Given the description of an element on the screen output the (x, y) to click on. 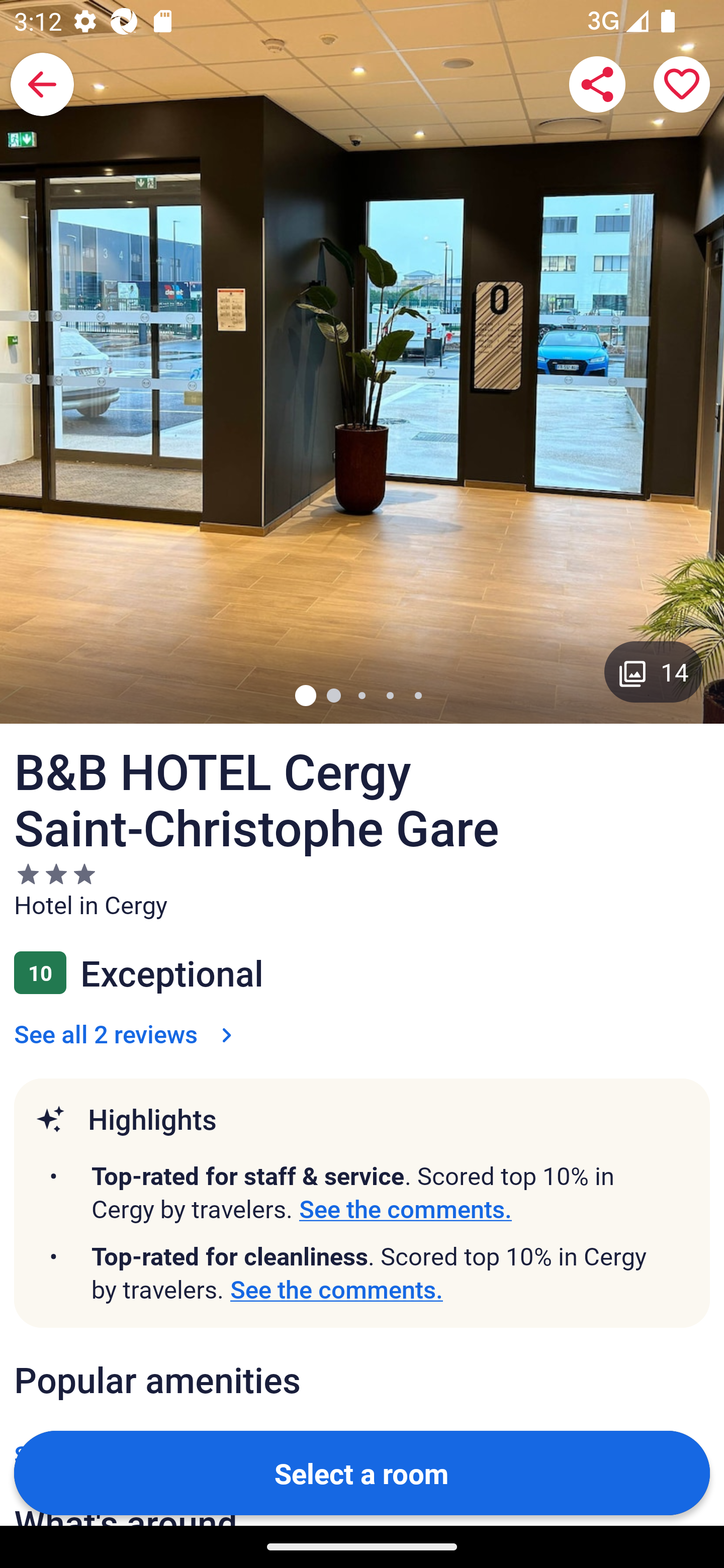
Back (42, 84)
Save property to a trip (681, 84)
Share B&B HOTEL Cergy Saint-Christophe Gare (597, 84)
Gallery button with 14 images (653, 671)
See all 2 reviews See all 2 reviews Link (126, 1032)
Select a room Button Select a room (361, 1472)
